Given the description of an element on the screen output the (x, y) to click on. 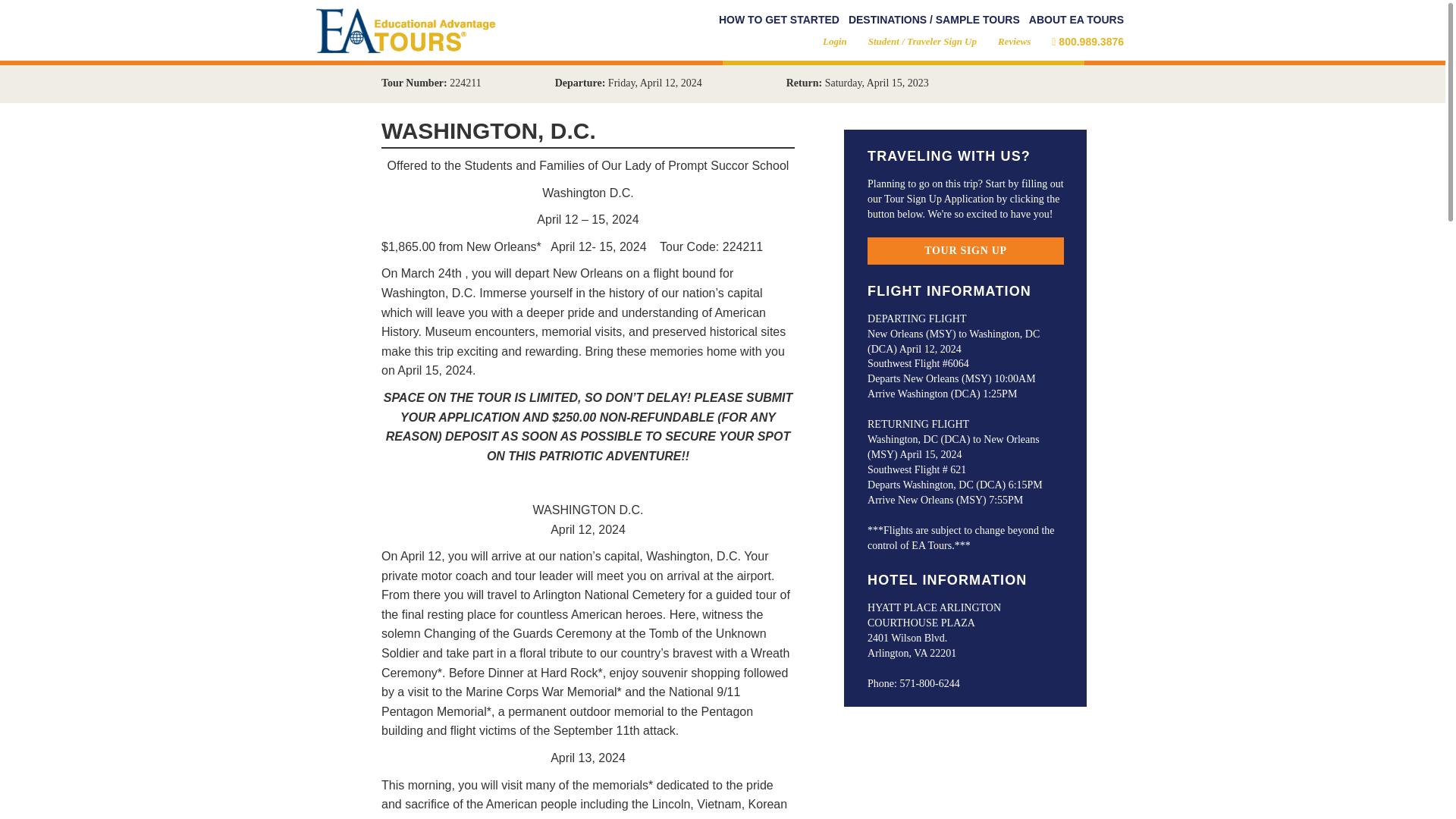
Login (834, 41)
Reviews (1013, 41)
About EA Tours (1076, 19)
800.989.3876 (1087, 41)
Get Started (779, 19)
ABOUT EA TOURS (1076, 19)
Destinations (934, 19)
HOW TO GET STARTED (779, 19)
